Given the description of an element on the screen output the (x, y) to click on. 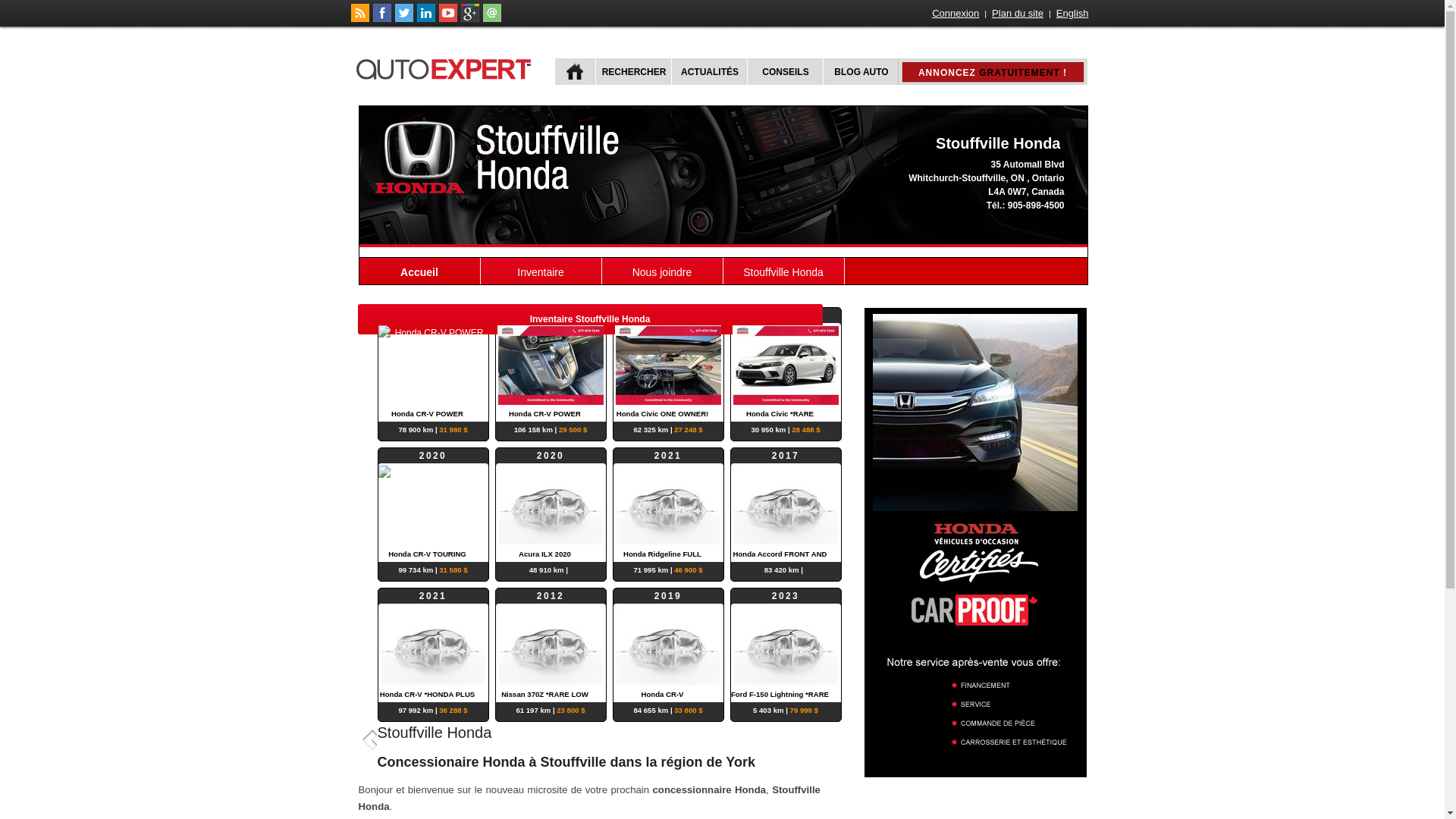
Suivez autoExpert.ca sur Facebook Element type: hover (382, 18)
Suivez autoExpert.ca sur Google Plus Element type: hover (470, 18)
Connexion Element type: text (955, 13)
2020
Acura ILX 2020
48 910 km |   Element type: text (550, 504)
Nous joindre Element type: text (662, 270)
ANNONCEZ GRATUITEMENT ! Element type: text (992, 71)
RECHERCHER Element type: text (631, 71)
Accueil Element type: text (419, 270)
BLOG AUTO Element type: text (859, 71)
autoExpert.ca Element type: text (446, 66)
Suivez autoExpert.ca sur Youtube Element type: hover (447, 18)
CONSEILS Element type: text (783, 71)
English Element type: text (1072, 13)
Joindre autoExpert.ca Element type: hover (491, 18)
Suivant Element type: hover (812, 738)
Inventaire Element type: text (541, 270)
ACCUEIL Element type: text (575, 71)
Suivez autoExpert.ca sur Twitter Element type: hover (403, 18)
Stouffville Honda Element type: text (783, 270)
Plan du site Element type: text (1017, 13)
Suivez Publications Le Guide Inc. sur LinkedIn Element type: hover (426, 18)
